Given the description of an element on the screen output the (x, y) to click on. 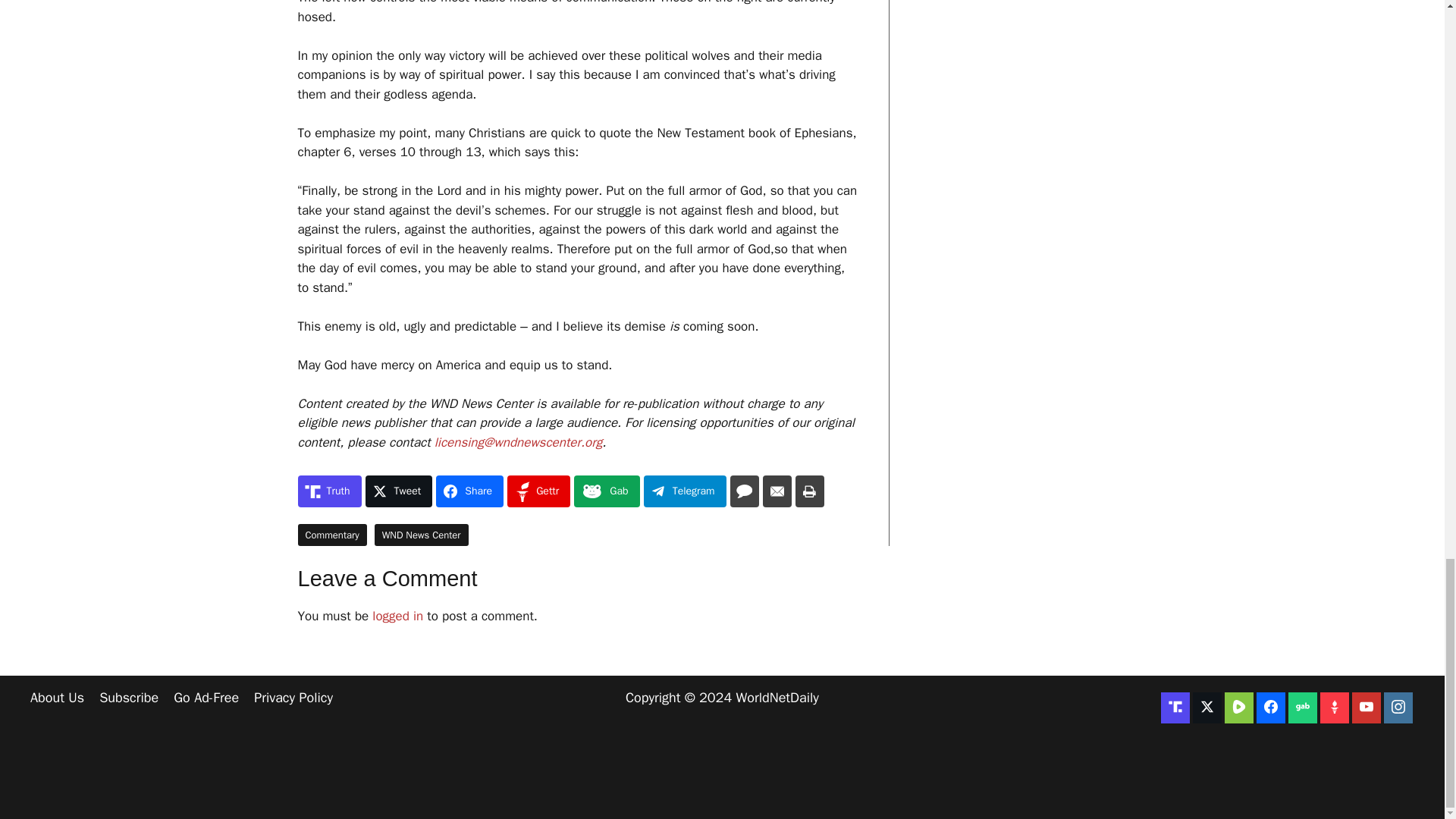
Share on Truth (329, 490)
Share on Share (469, 490)
Share on Tweet (398, 490)
Share on Gettr (538, 490)
